Given the description of an element on the screen output the (x, y) to click on. 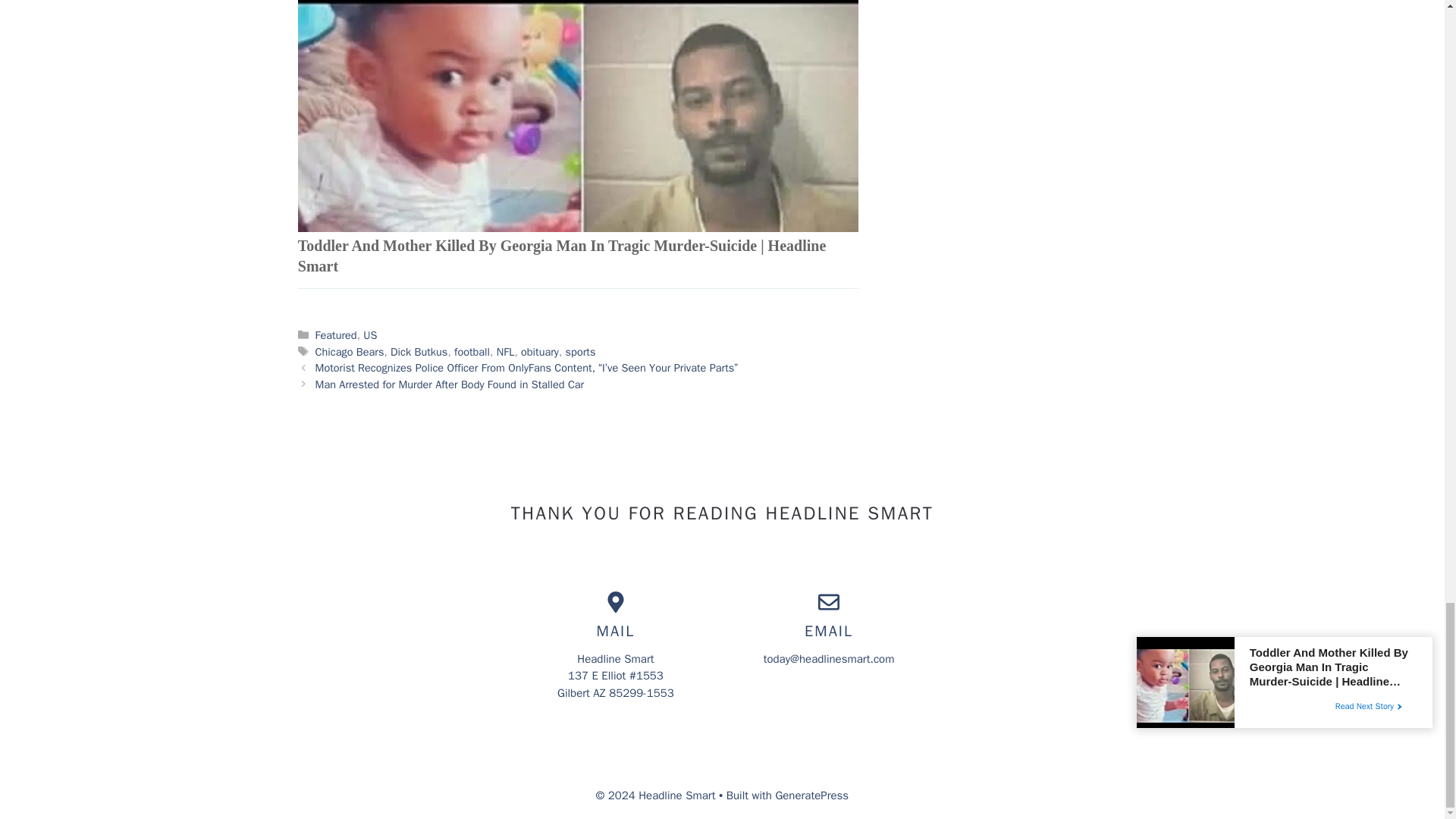
sports (580, 351)
US (369, 335)
Featured (335, 335)
Chicago Bears (349, 351)
football (471, 351)
obituary (540, 351)
Dick Butkus (418, 351)
NFL (505, 351)
